Given the description of an element on the screen output the (x, y) to click on. 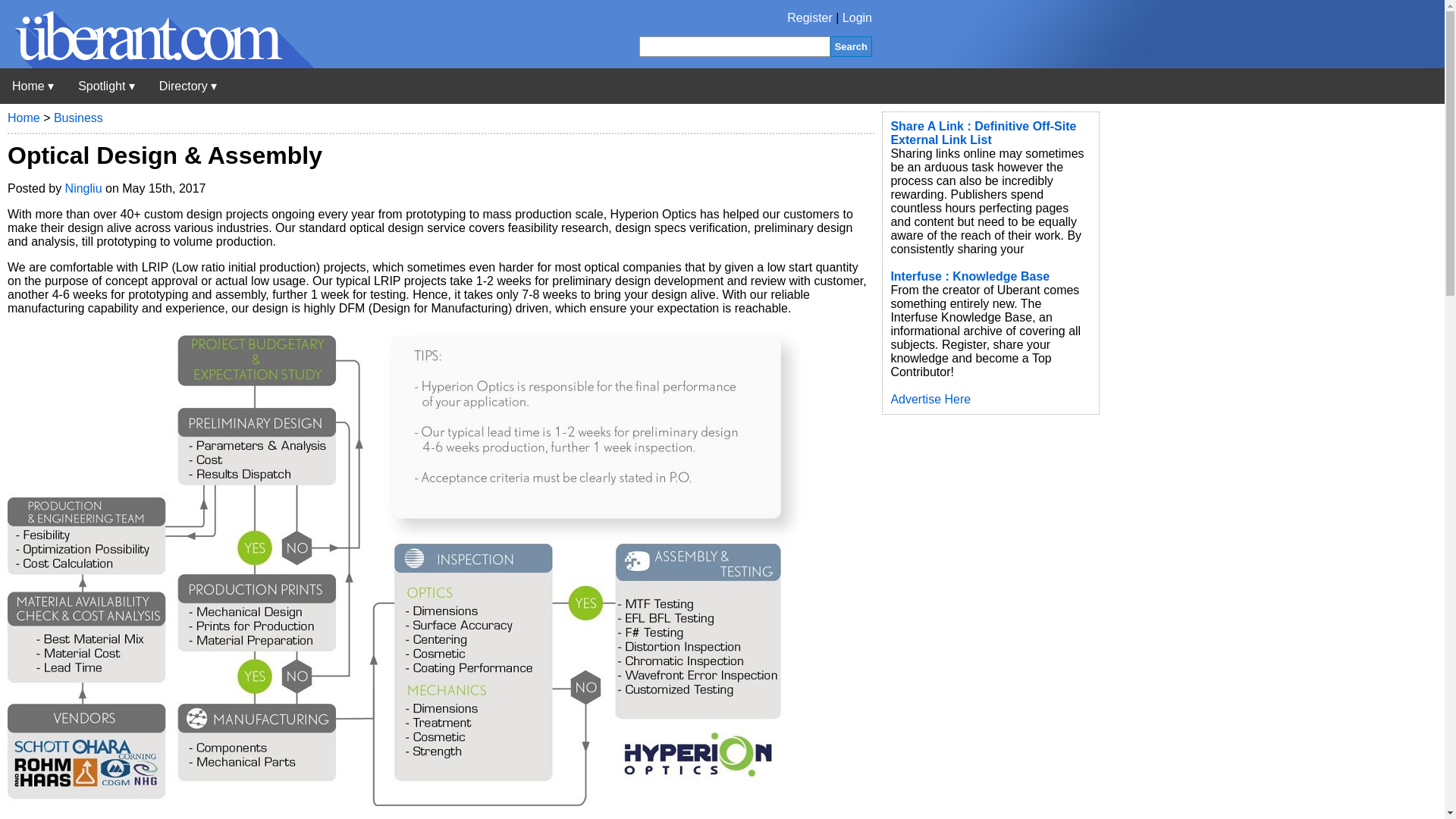
Register (809, 17)
Search (850, 46)
Search (850, 46)
Login (857, 17)
Uberant (157, 63)
Uberant (32, 85)
